Given the description of an element on the screen output the (x, y) to click on. 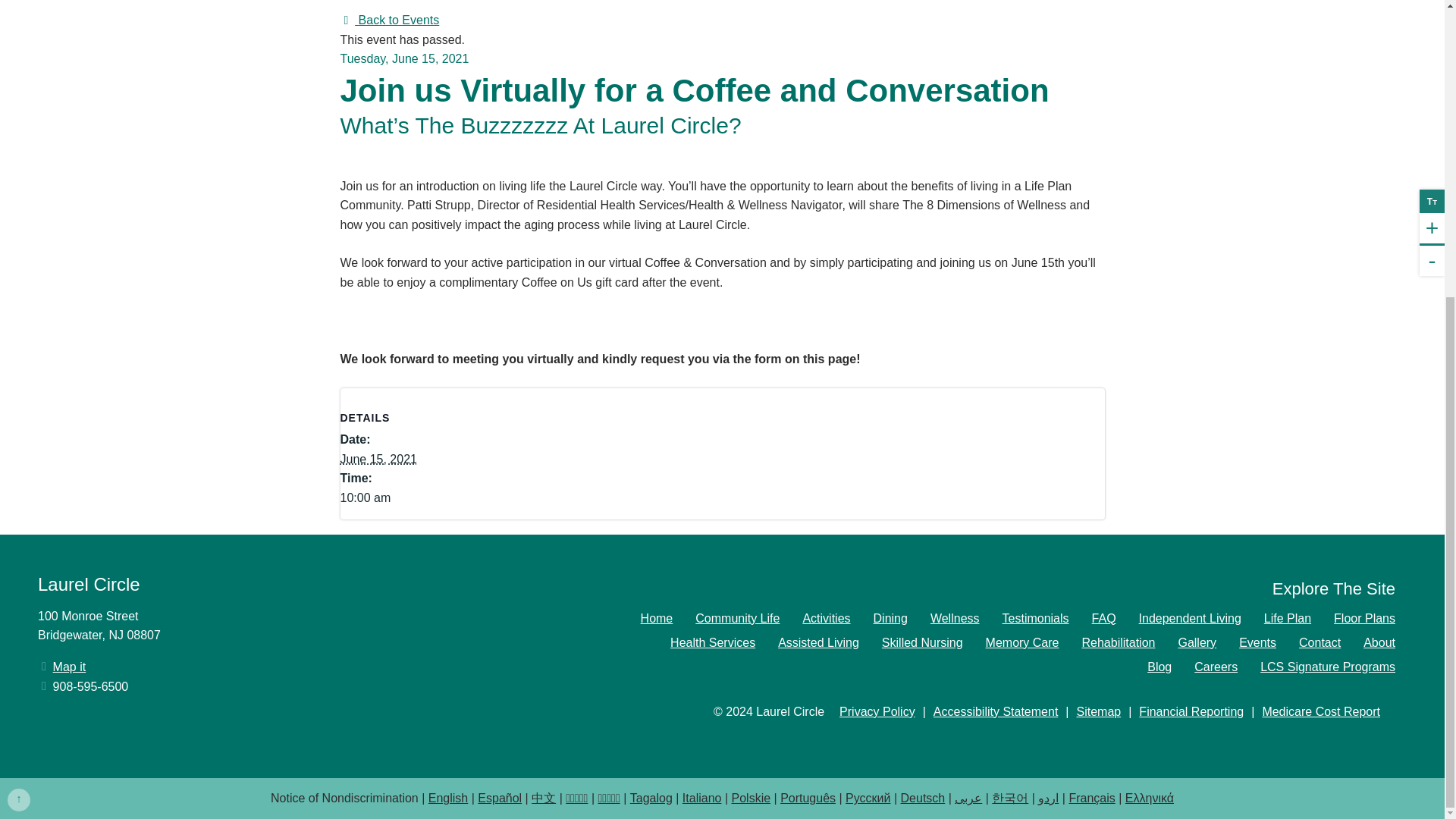
Map it (68, 667)
Instagram (159, 727)
Facebook (73, 727)
2021-06-15 (377, 459)
Link to Google Map (288, 625)
Link to Google Map (68, 667)
Managed by Life Care Services (818, 742)
2021-06-15 (403, 497)
Back to Events (389, 19)
Phone (90, 686)
908-595-6500 (288, 625)
LinkedIN (90, 686)
